Given the description of an element on the screen output the (x, y) to click on. 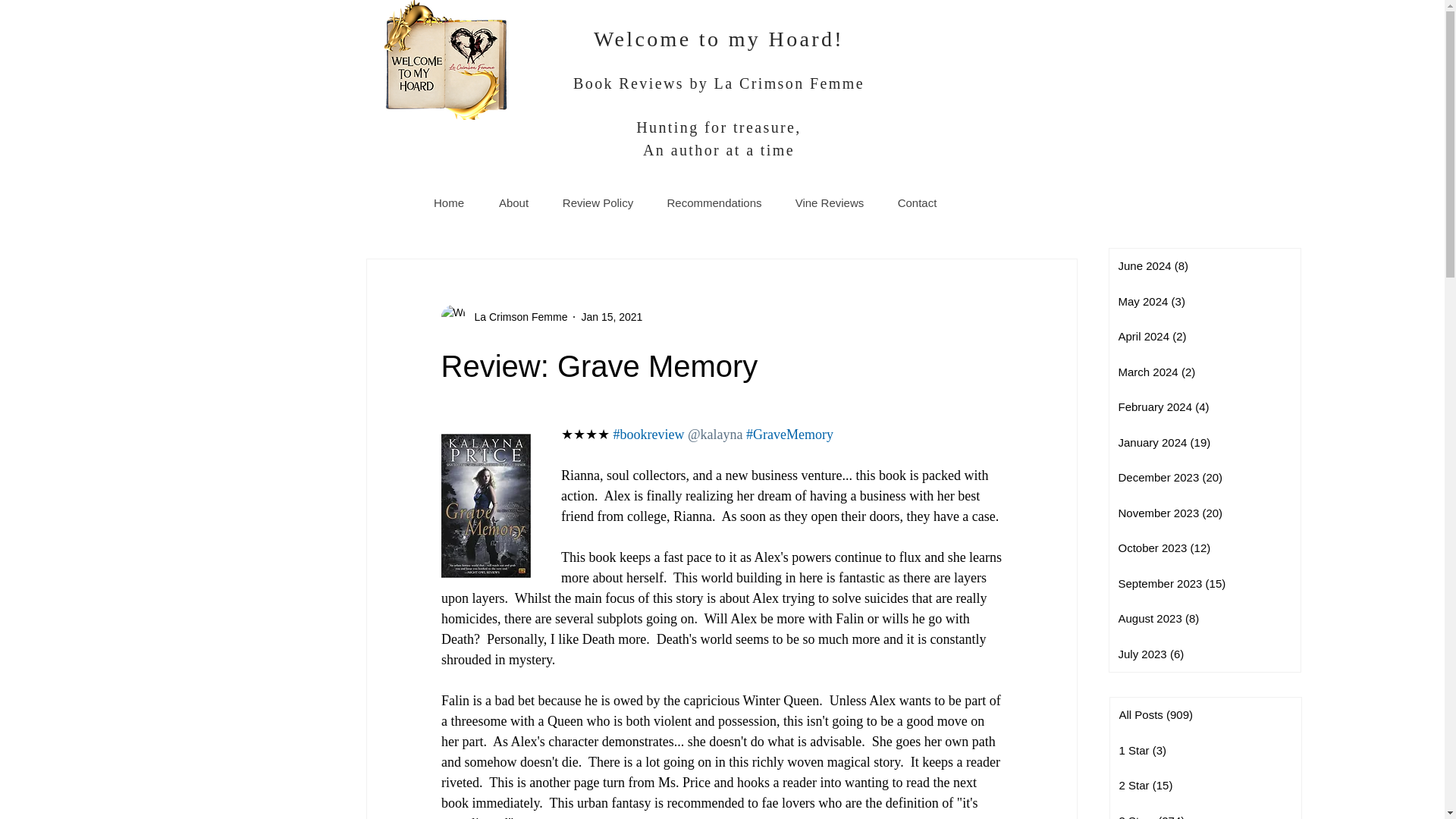
Home (448, 202)
Jan 15, 2021 (611, 316)
Vine Reviews (828, 202)
Recommendations (713, 202)
La Crimson Femme (516, 317)
About (512, 202)
Contact (916, 202)
Review Policy (597, 202)
